Given the description of an element on the screen output the (x, y) to click on. 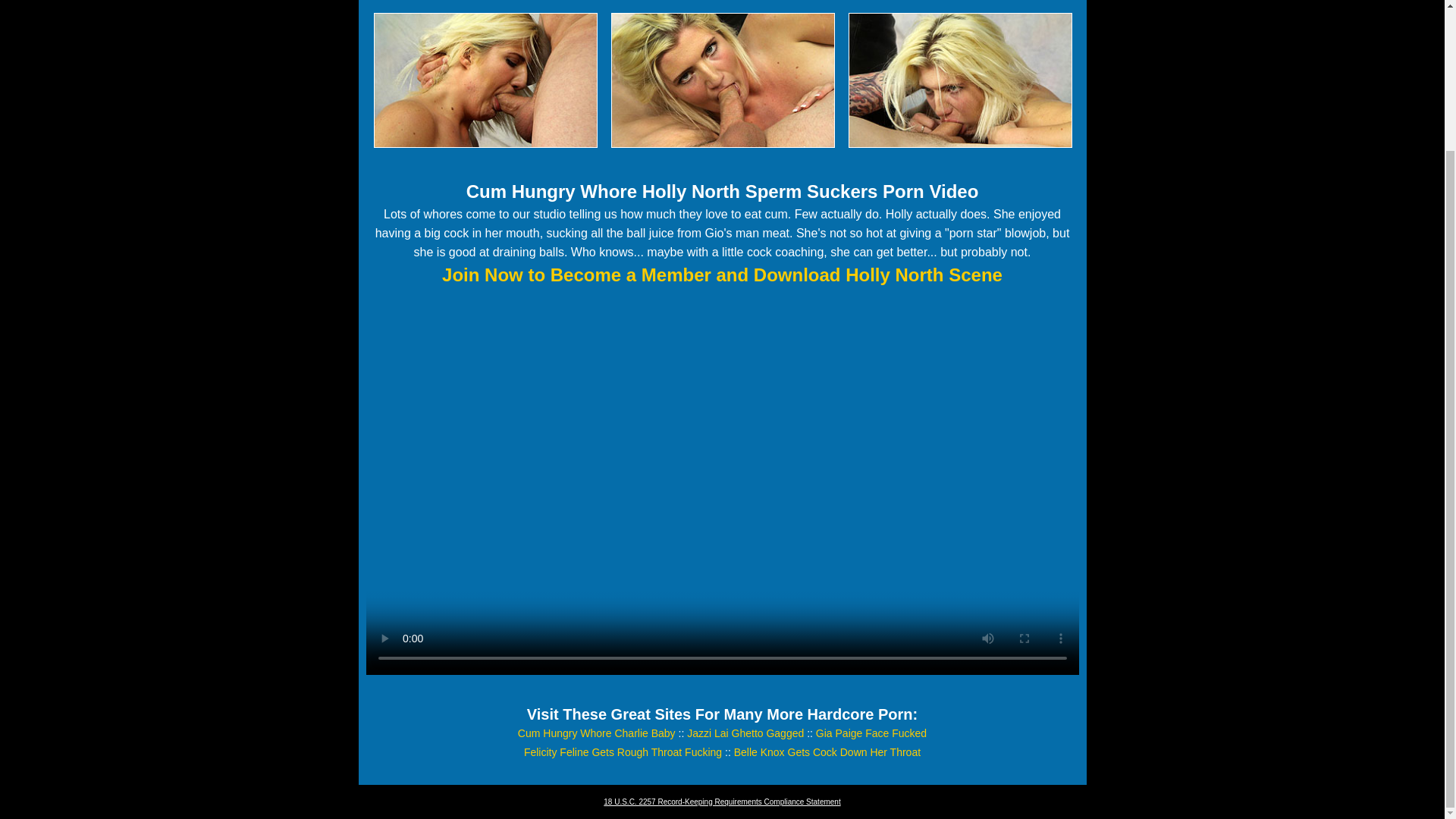
Belle Knox Gets Cock Down Her Throat (826, 752)
Jazzi Lai Ghetto Gagged (745, 733)
Join Now to Become a Member and Download Holly North Scene (722, 274)
Felicity Feline Gets Rough Throat Fucking (623, 752)
Gia Paige Face Fucked (870, 733)
Cum Hungry Whore Charlie Baby (596, 733)
